Given the description of an element on the screen output the (x, y) to click on. 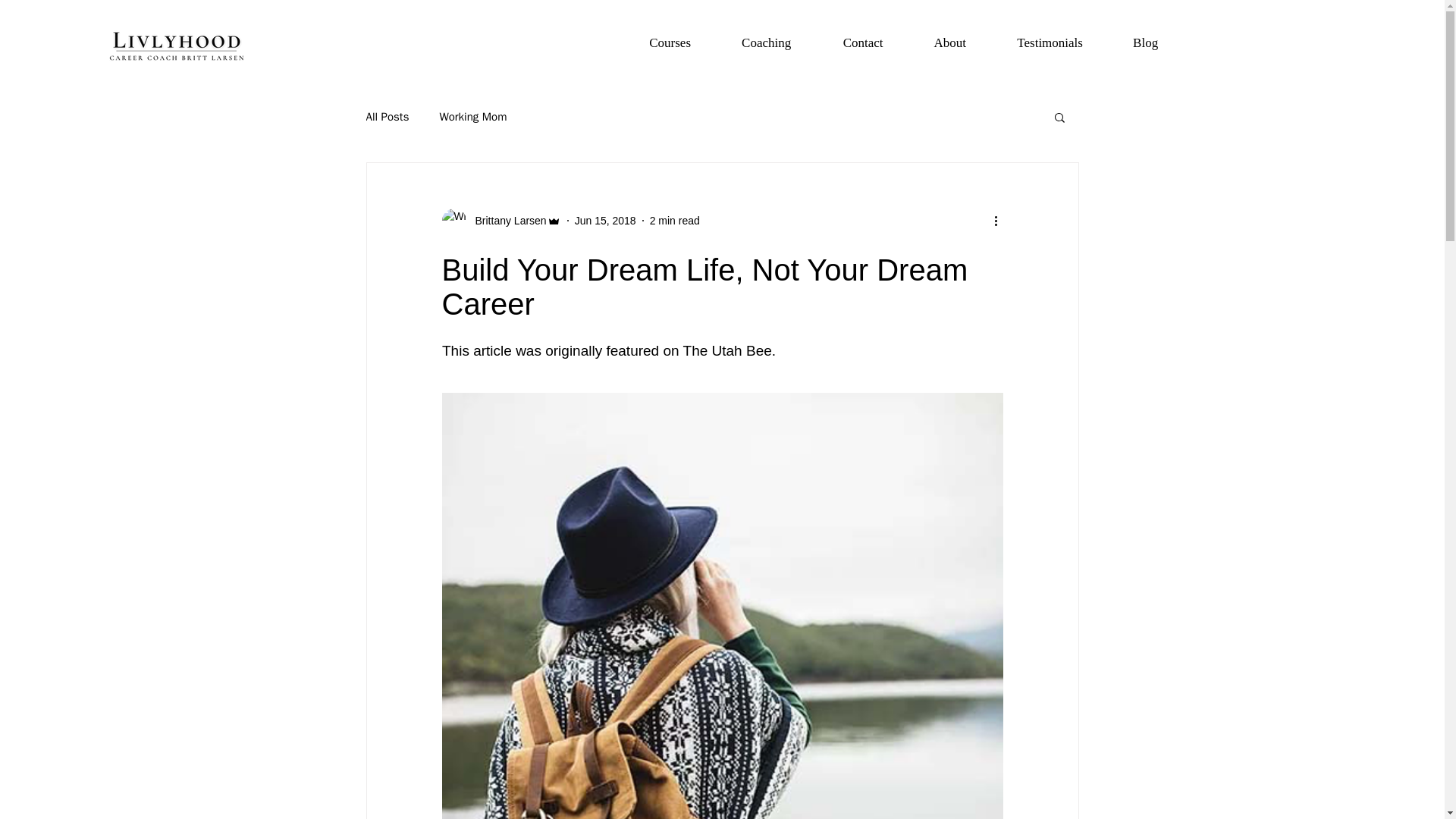
About (949, 43)
2 min read (674, 219)
All Posts (387, 115)
Working Mom (472, 115)
The Utah Bee.  (730, 350)
Testimonials (1049, 43)
Blog (1144, 43)
Brittany Larsen (505, 220)
Courses (670, 43)
Brittany Larsen (500, 220)
Contact (862, 43)
Jun 15, 2018 (605, 219)
